Given the description of an element on the screen output the (x, y) to click on. 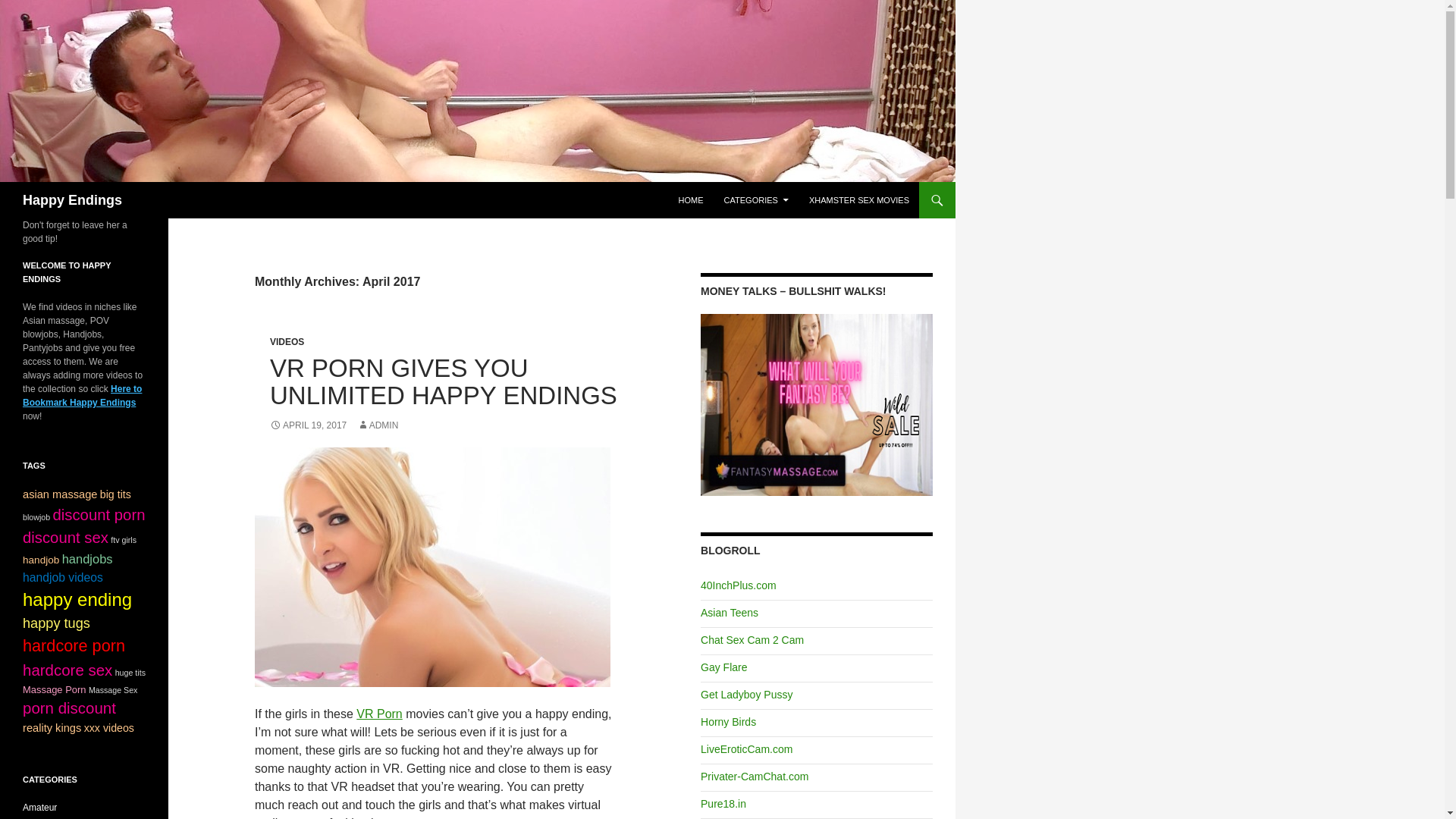
12 (60, 494)
6 (123, 539)
11 (115, 494)
Gay Flare (723, 666)
Bookmark Happy Endings (82, 395)
Happy Endings (72, 199)
16 (87, 558)
CATEGORIES (755, 199)
HOME (691, 199)
29 (98, 514)
29 (65, 537)
vr porn (432, 565)
APRIL 19, 2017 (307, 425)
VR PORN GIVES YOU UNLIMITED HAPPY ENDINGS (443, 381)
